Given the description of an element on the screen output the (x, y) to click on. 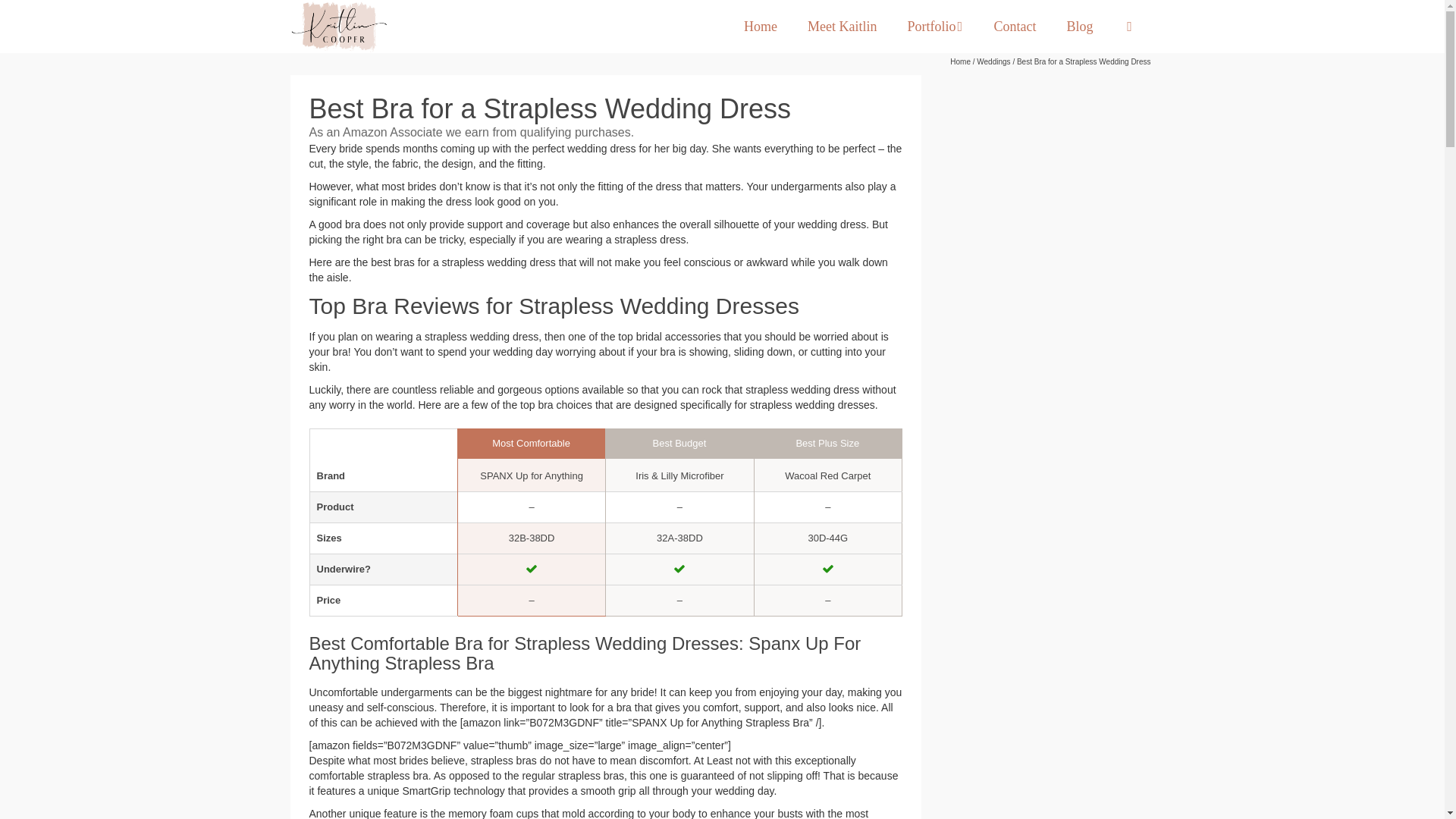
Portfolio (934, 26)
Meet Kaitlin (841, 26)
Home (960, 61)
Home (760, 26)
Blog (1079, 26)
Contact (1014, 26)
Weddings (993, 61)
